Given the description of an element on the screen output the (x, y) to click on. 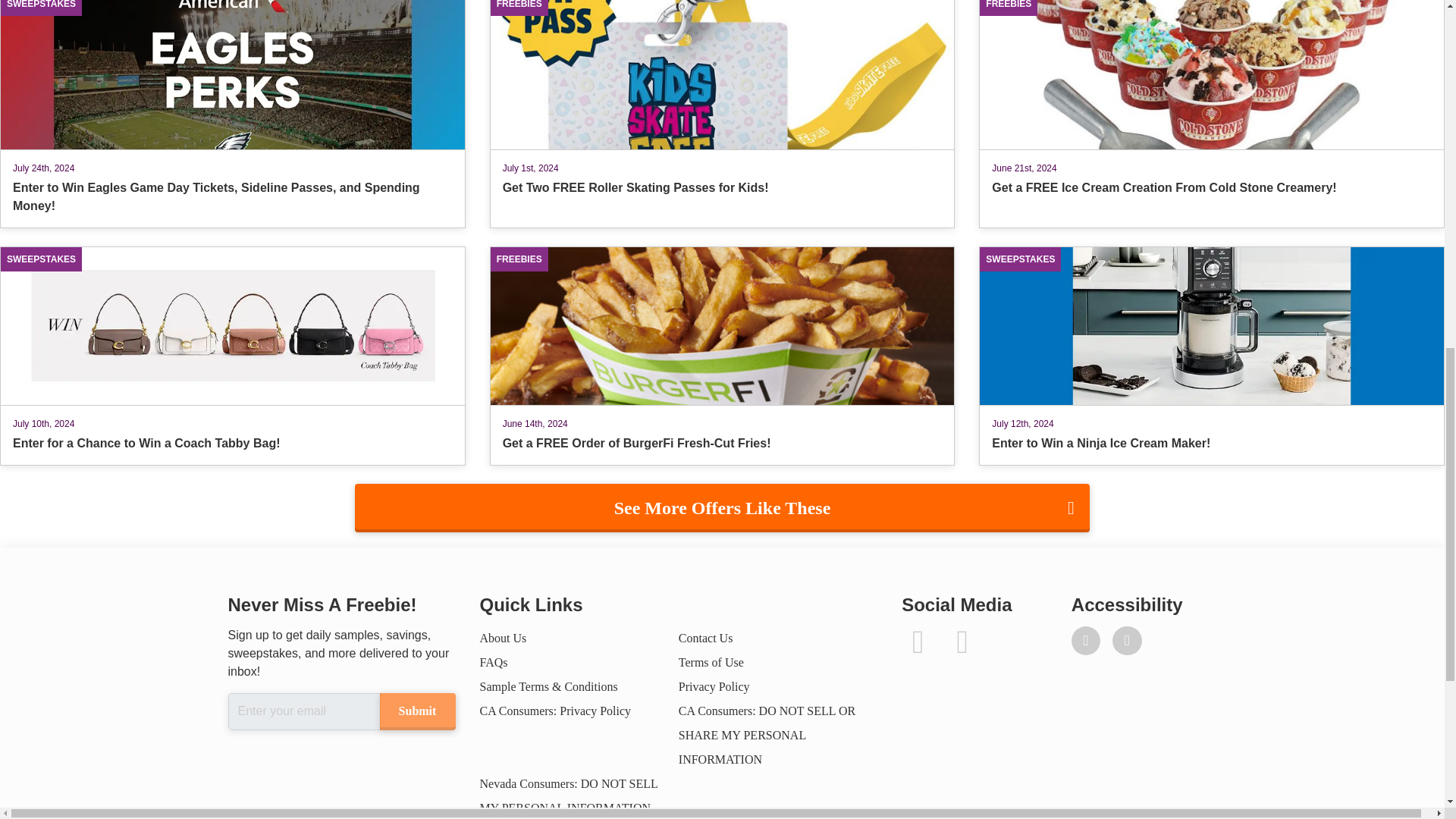
Contact Us (705, 637)
Nevada Consumers: DO NOT SELL MY PERSONAL INFORMATION (568, 795)
Submit (416, 711)
See More Offers Like These (722, 508)
Terms of Use (711, 662)
Privacy Policy (713, 686)
FAQs (492, 662)
About Us (502, 637)
